Given the description of an element on the screen output the (x, y) to click on. 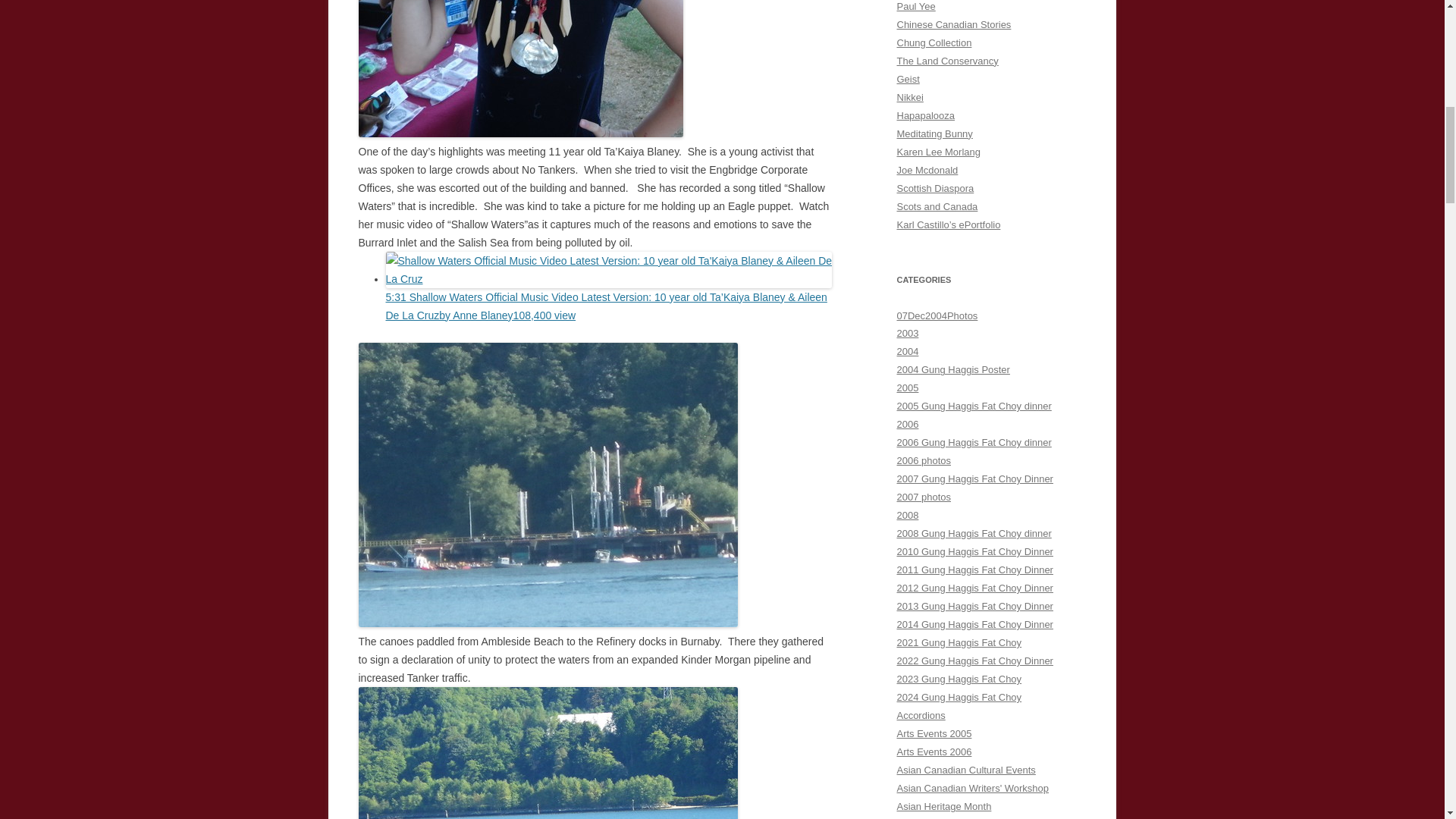
Geist (907, 79)
Hapapalooza (925, 115)
Joe Mcdonald (927, 170)
Paul Yee (915, 6)
Scottish Diaspora (935, 188)
Chung Collection (933, 42)
Karen Lee Morlang (937, 152)
Meditating Bunny (934, 133)
The Land Conservancy (946, 60)
Chinese Canadian Stories (953, 24)
Nikkei (909, 97)
